Given the description of an element on the screen output the (x, y) to click on. 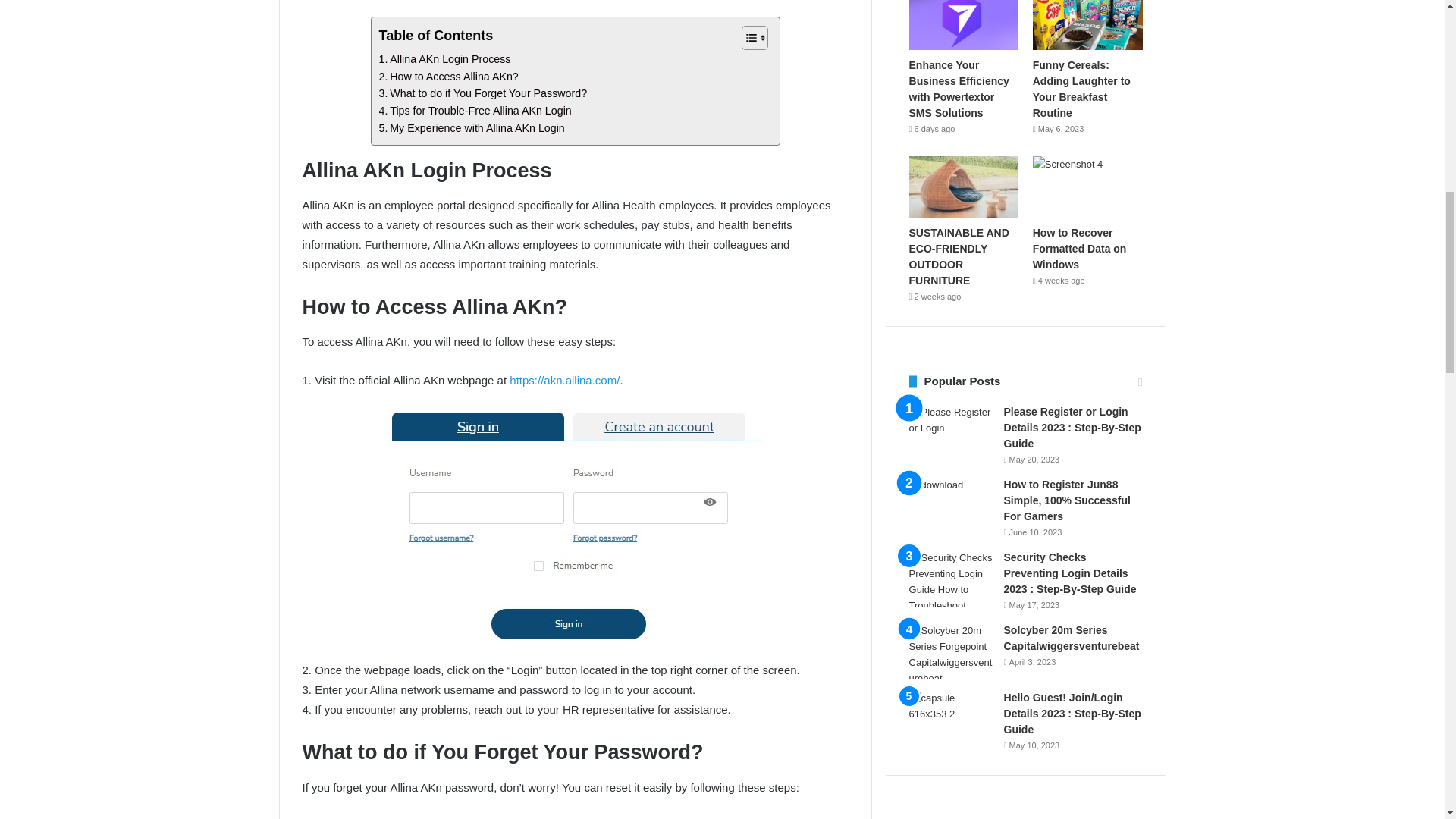
My Experience with Allina AKn Login (471, 128)
Allina AKn Login Process (444, 58)
What to do if You Forget Your Password? (483, 93)
How to Access Allina AKn? (448, 76)
Allina AKn Login Process (444, 58)
What to do if You Forget Your Password? (483, 93)
How to Access Allina AKn? (448, 76)
Tips for Trouble-Free Allina AKn Login (475, 110)
Tips for Trouble-Free Allina AKn Login (475, 110)
